Given the description of an element on the screen output the (x, y) to click on. 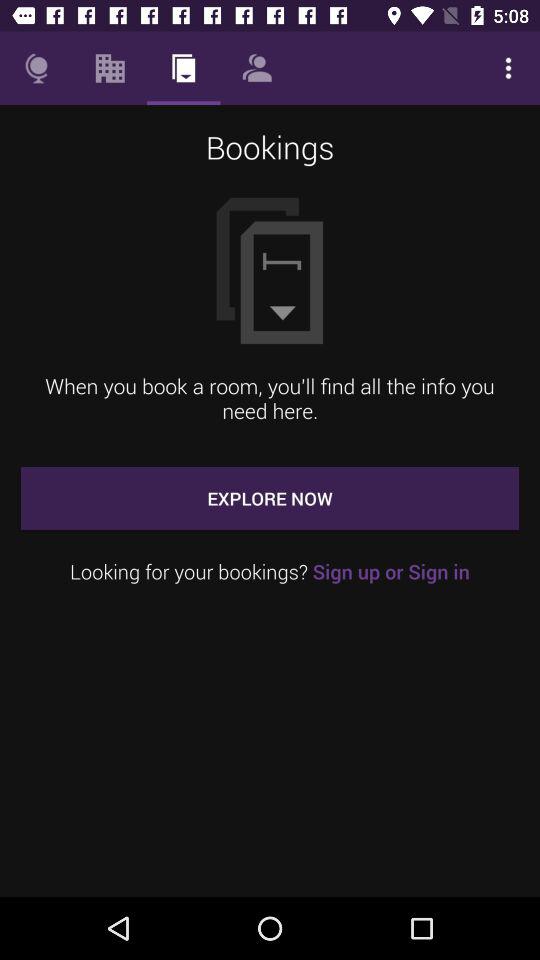
click icon above the bookings icon (36, 68)
